Given the description of an element on the screen output the (x, y) to click on. 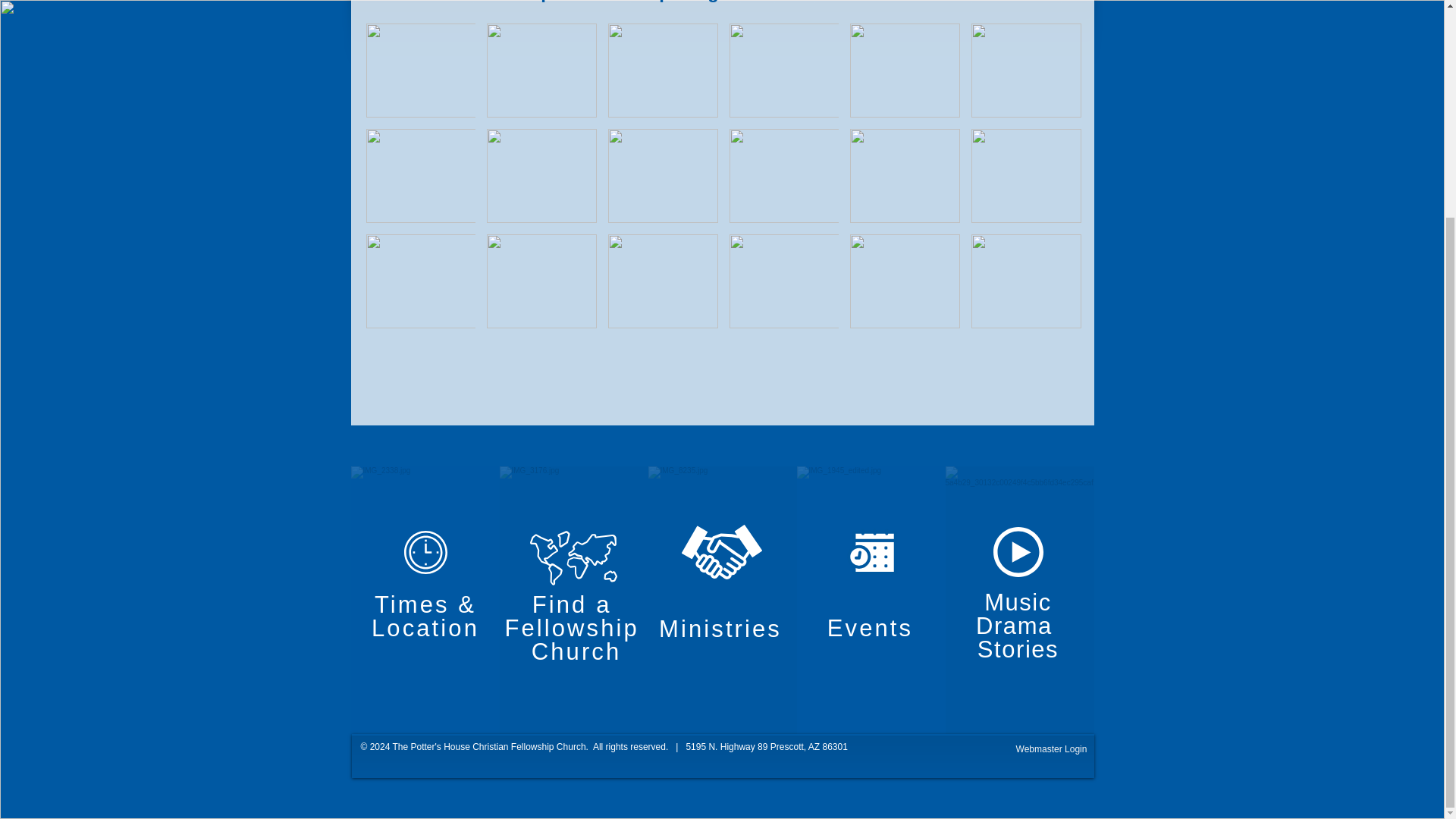
Webmaster Login (1051, 749)
